Given the description of an element on the screen output the (x, y) to click on. 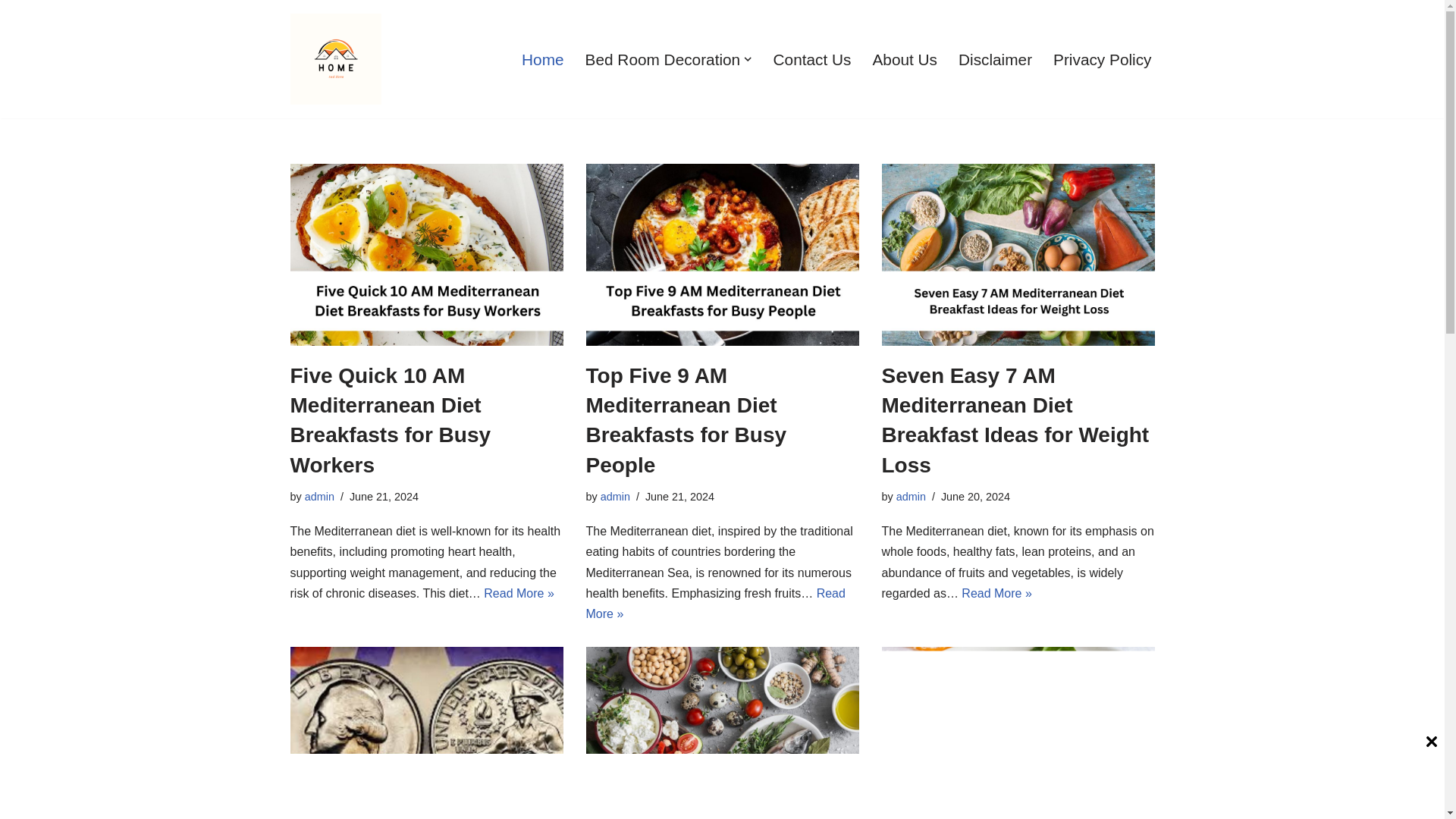
Disclaimer (995, 58)
Posts by admin (911, 496)
Bed Room Decoration (663, 58)
Contact Us (812, 58)
admin (911, 496)
admin (614, 496)
